Given the description of an element on the screen output the (x, y) to click on. 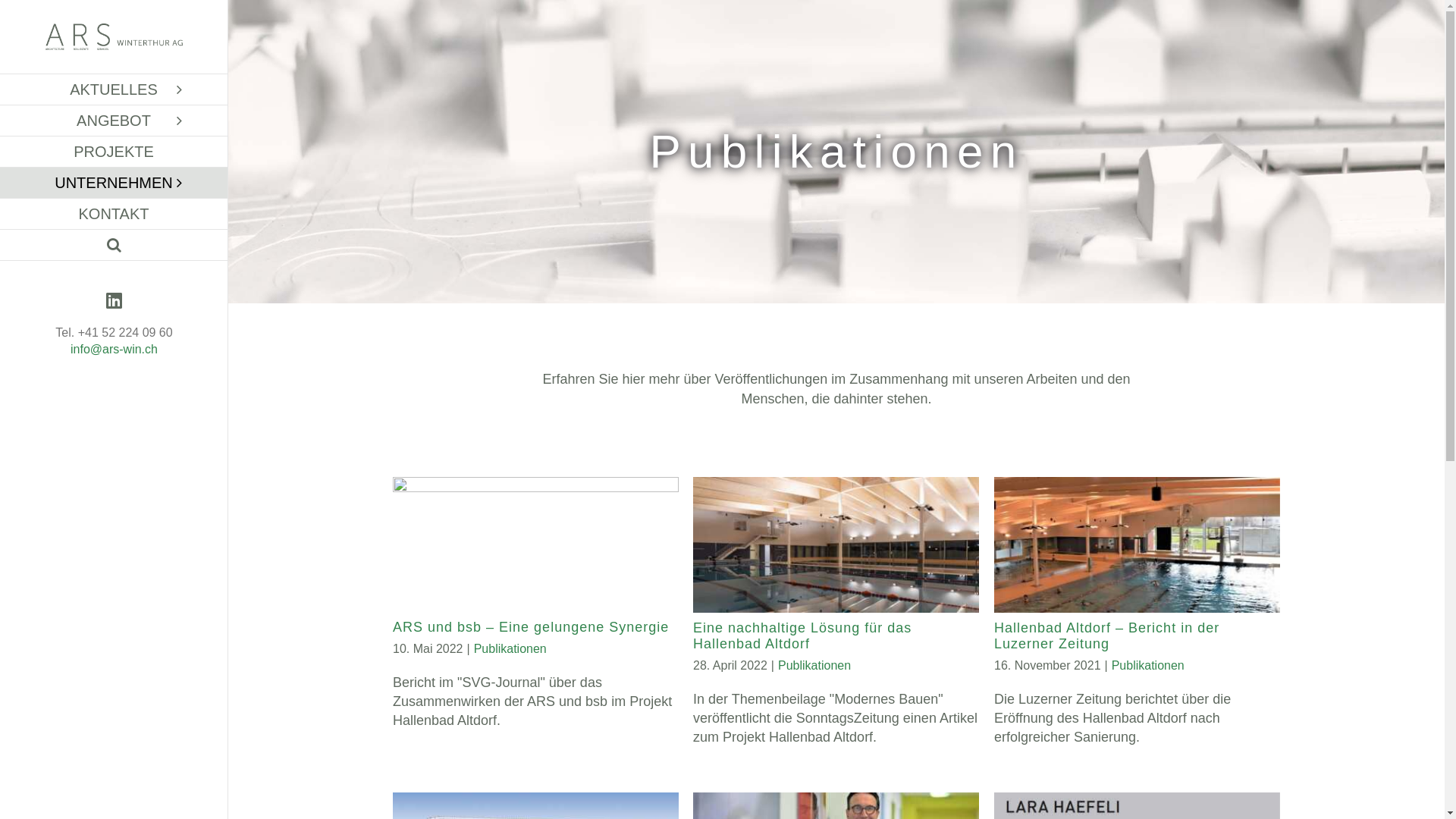
KONTAKT Element type: text (113, 213)
info@ars-win.ch Element type: text (113, 348)
Publikationen Element type: text (1147, 664)
Publikationen Element type: text (814, 664)
Publikationen Element type: text (509, 648)
LinkedIn Element type: text (114, 300)
Suche Element type: hover (113, 244)
ANGEBOT Element type: text (113, 120)
PROJEKTE Element type: text (113, 151)
UNTERNEHMEN Element type: text (113, 182)
AKTUELLES Element type: text (113, 89)
